Given the description of an element on the screen output the (x, y) to click on. 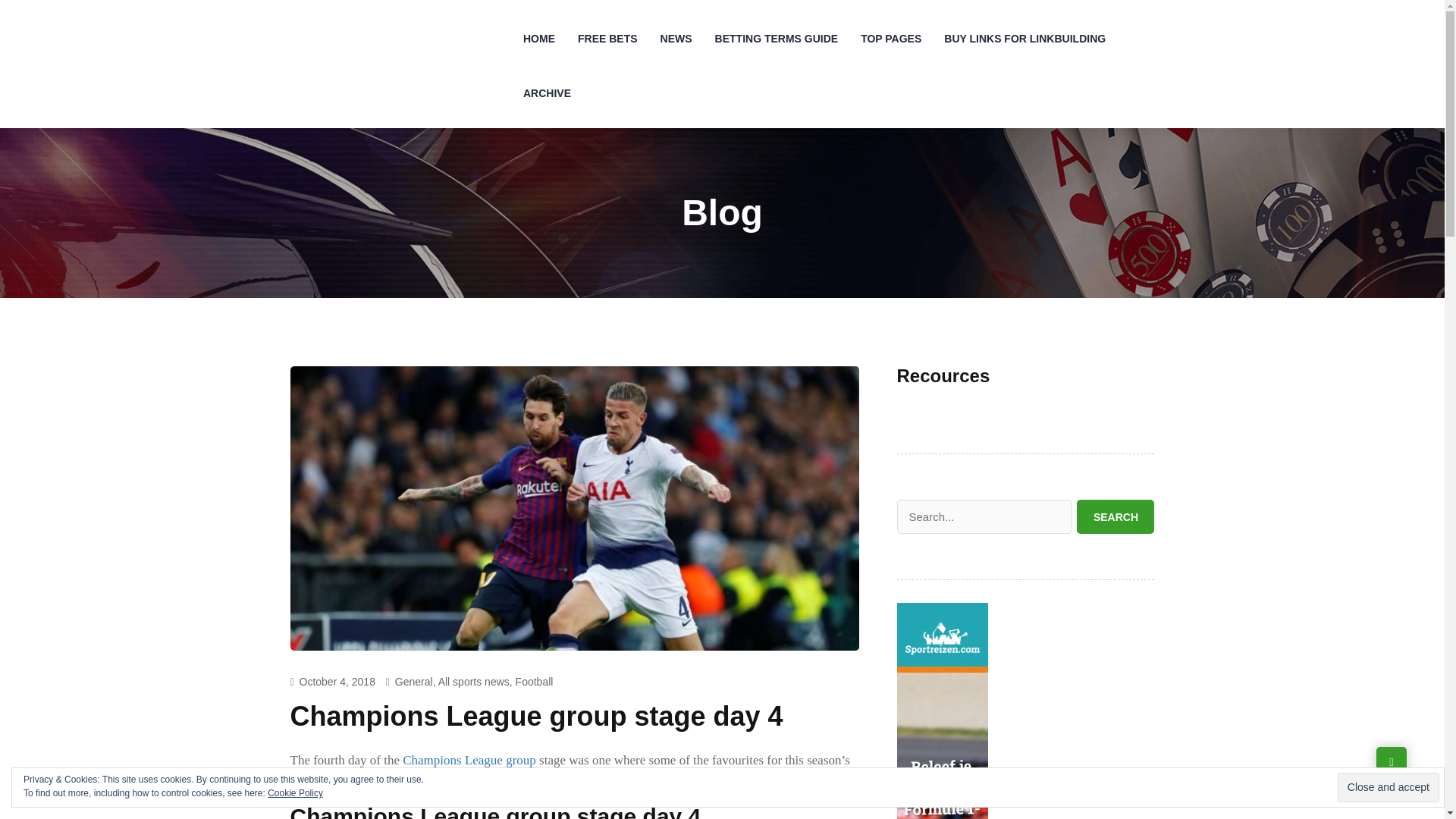
Close and accept (1388, 787)
All sports news (473, 681)
Football (534, 681)
NEWS (676, 38)
FREE BETS (607, 38)
BUY LINKS FOR LINKBUILDING (1024, 38)
ARCHIVE (547, 93)
General (413, 681)
TOP PAGES (890, 38)
HOME (539, 38)
